Given the description of an element on the screen output the (x, y) to click on. 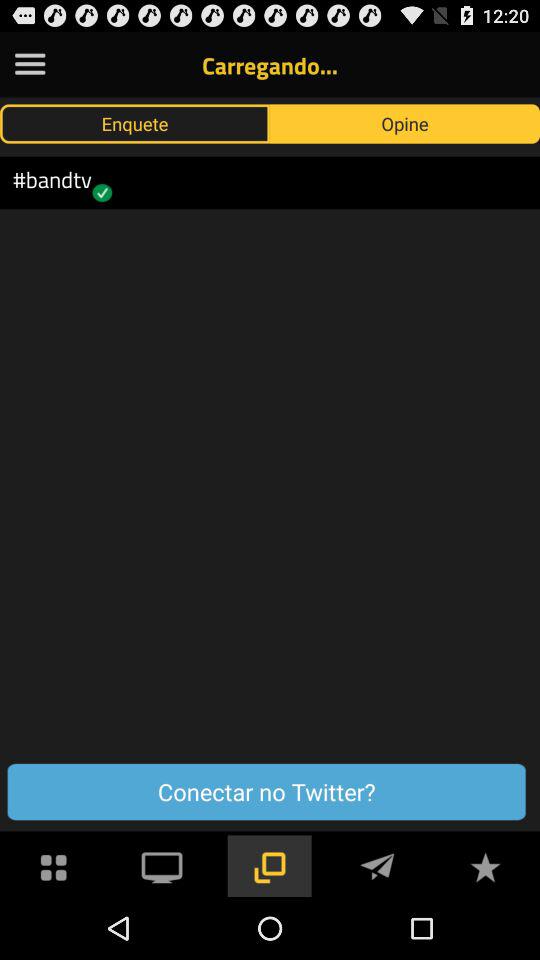
tap the icon to the right of the enquete (405, 123)
